Given the description of an element on the screen output the (x, y) to click on. 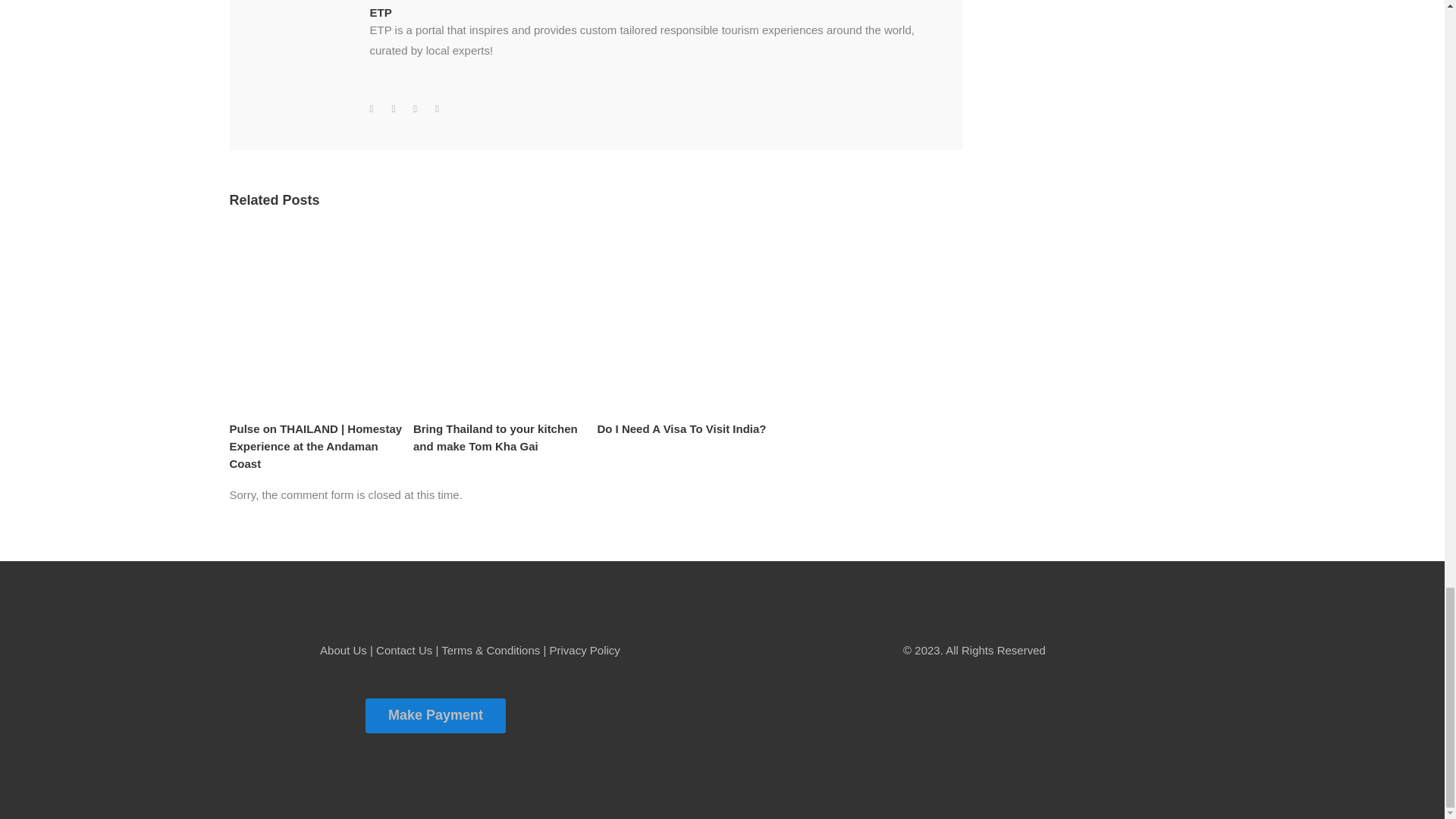
Do I Need A Visa To Visit India? (680, 428)
Bring Thailand to your kitchen and make Tom Kha Gai (495, 437)
